Given the description of an element on the screen output the (x, y) to click on. 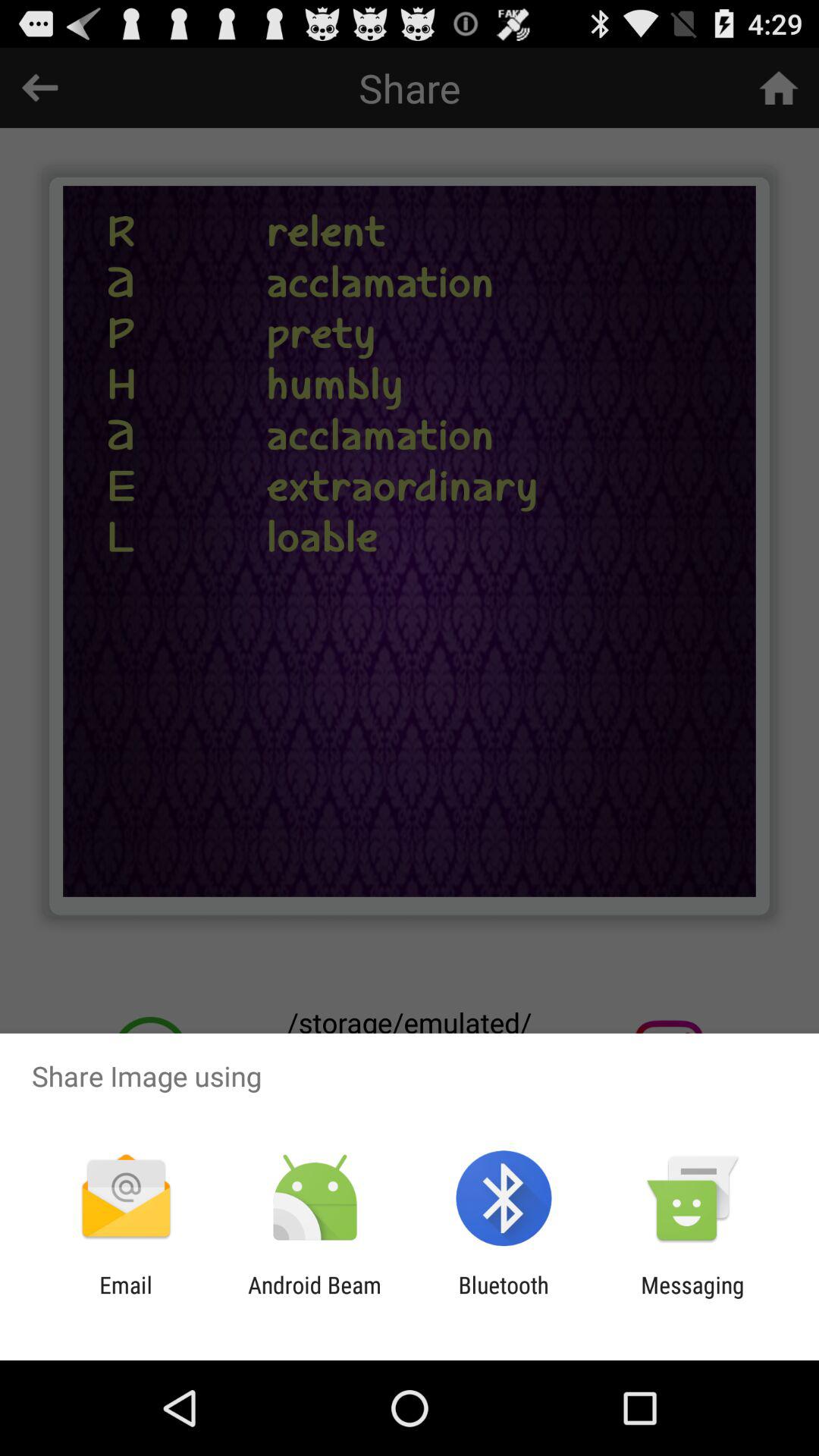
open the icon to the left of android beam icon (125, 1298)
